Given the description of an element on the screen output the (x, y) to click on. 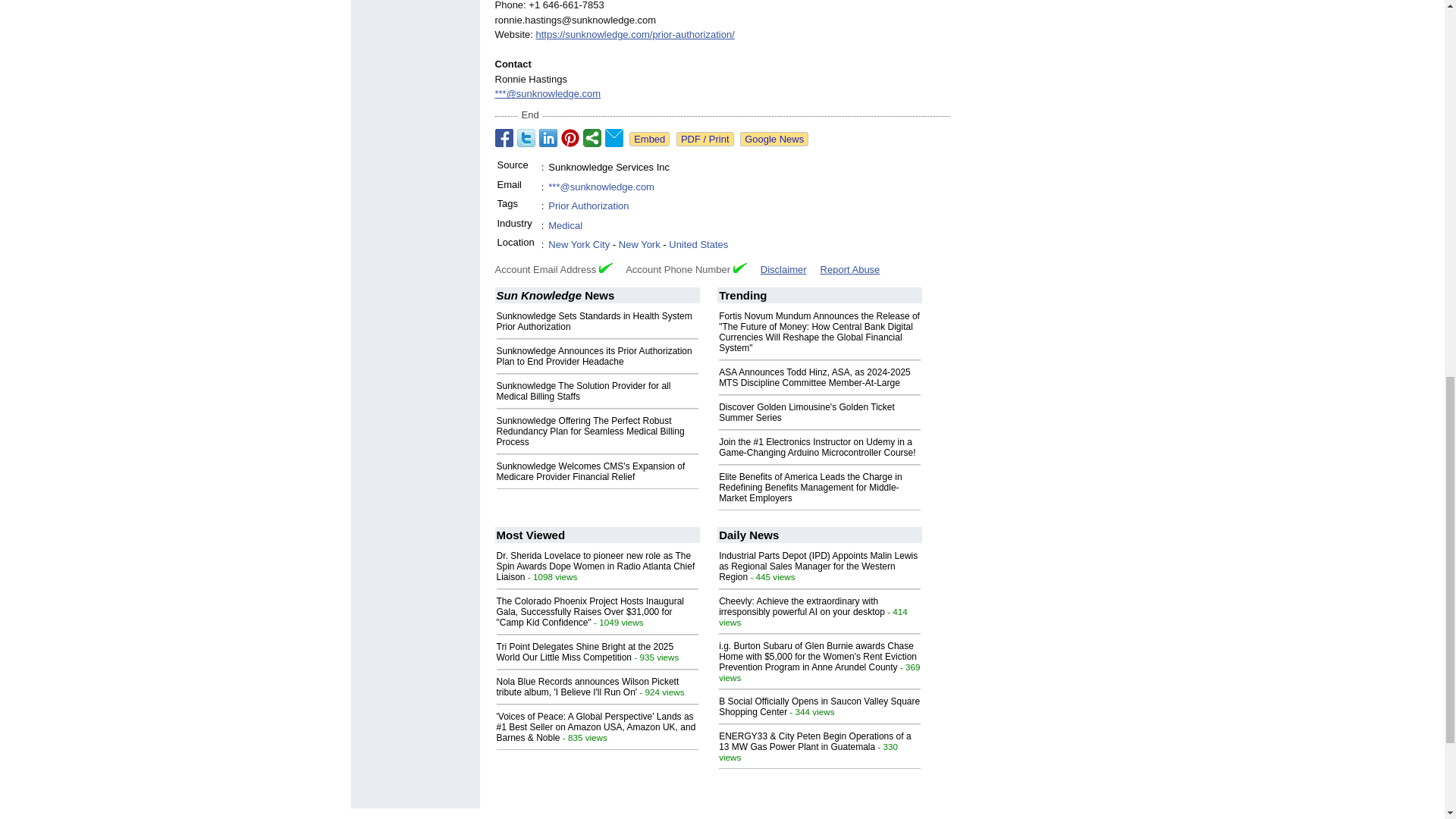
See or print the PDF version! (705, 138)
Email to a Friend (614, 137)
Share on LinkedIn (547, 137)
Verified (605, 267)
Share on Facebook (503, 137)
Embed (648, 138)
Share on Pinterest (569, 137)
Share on StumbleUpon, Digg, etc (590, 137)
Verified (739, 267)
Share on Twitter (525, 137)
Embed this press release in your website! (648, 138)
